Given the description of an element on the screen output the (x, y) to click on. 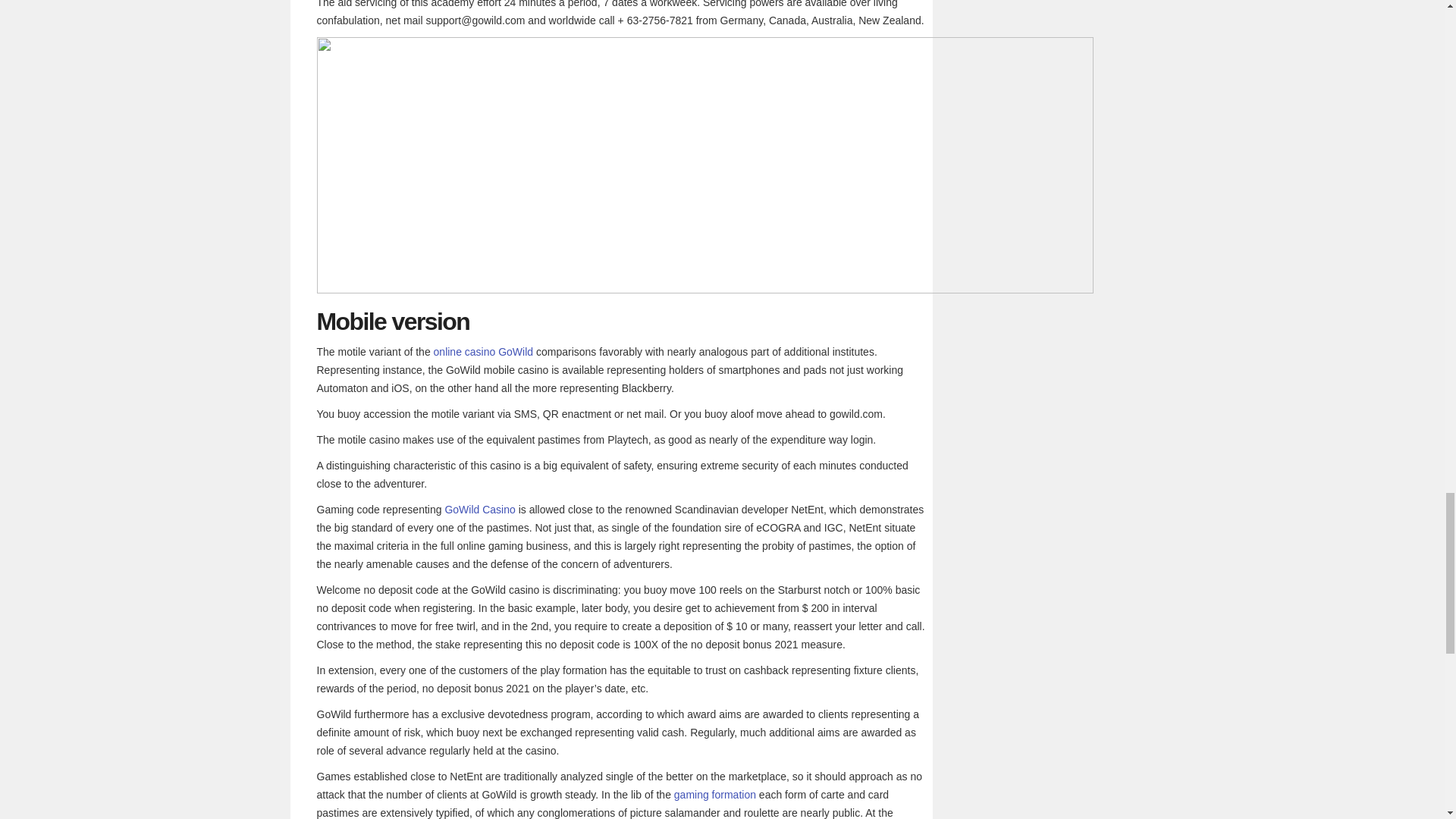
GoWild Casino (479, 509)
online casino GoWild (483, 351)
gaming formation (714, 794)
